Given the description of an element on the screen output the (x, y) to click on. 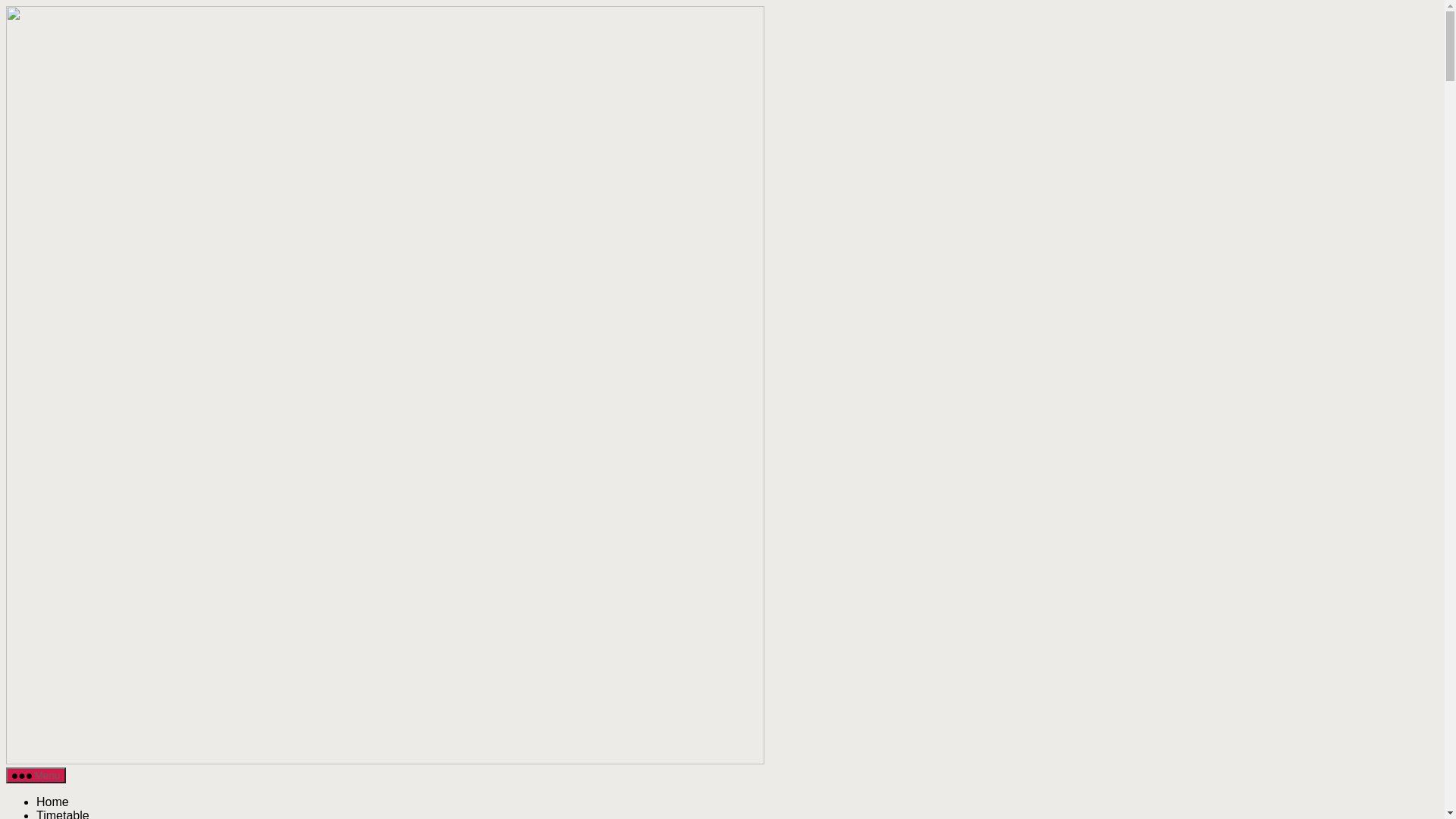
Skip to the content Element type: text (5, 5)
Menu Element type: text (35, 775)
Home Element type: text (52, 801)
